Given the description of an element on the screen output the (x, y) to click on. 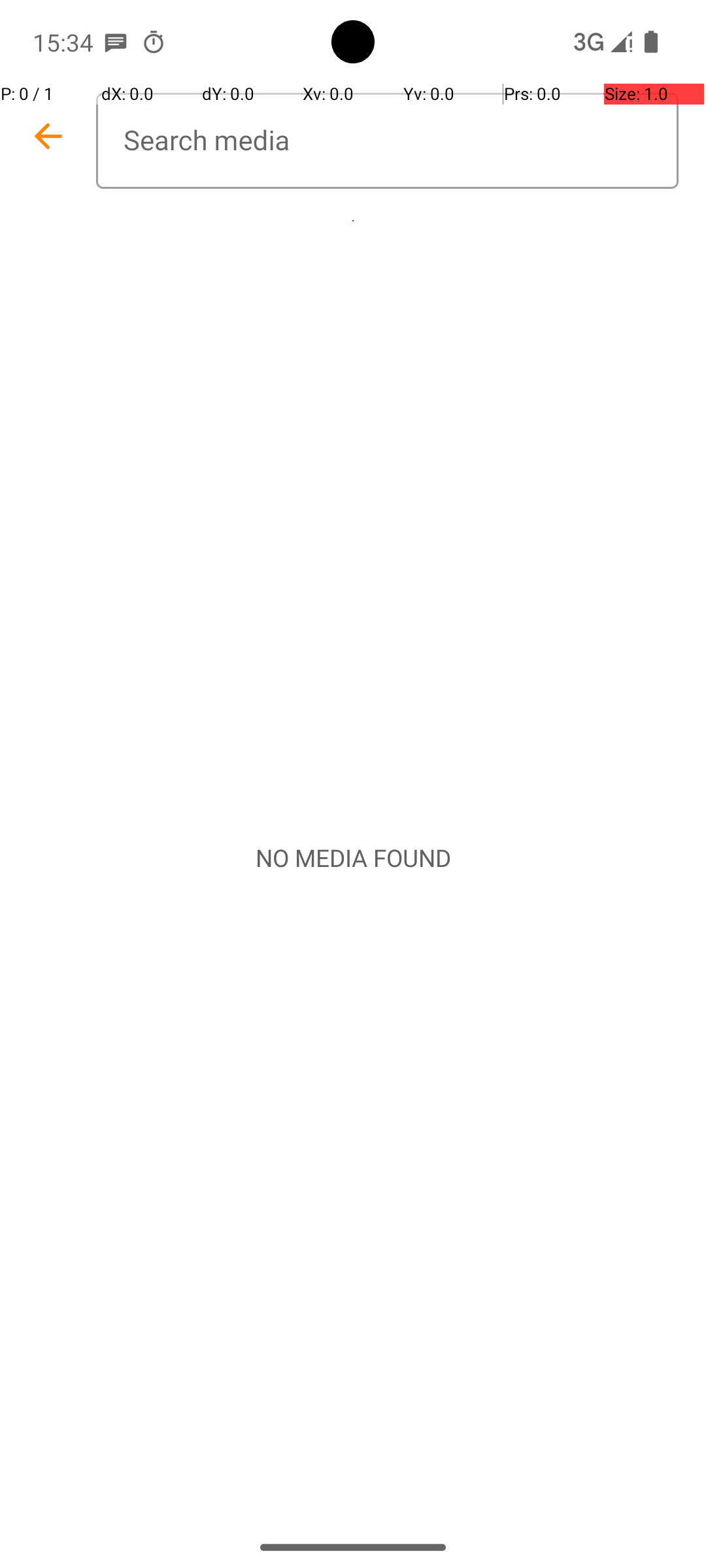
Search media Element type: android.widget.EditText (387, 140)
NO MEDIA FOUND Element type: android.widget.TextView (353, 857)
